Given the description of an element on the screen output the (x, y) to click on. 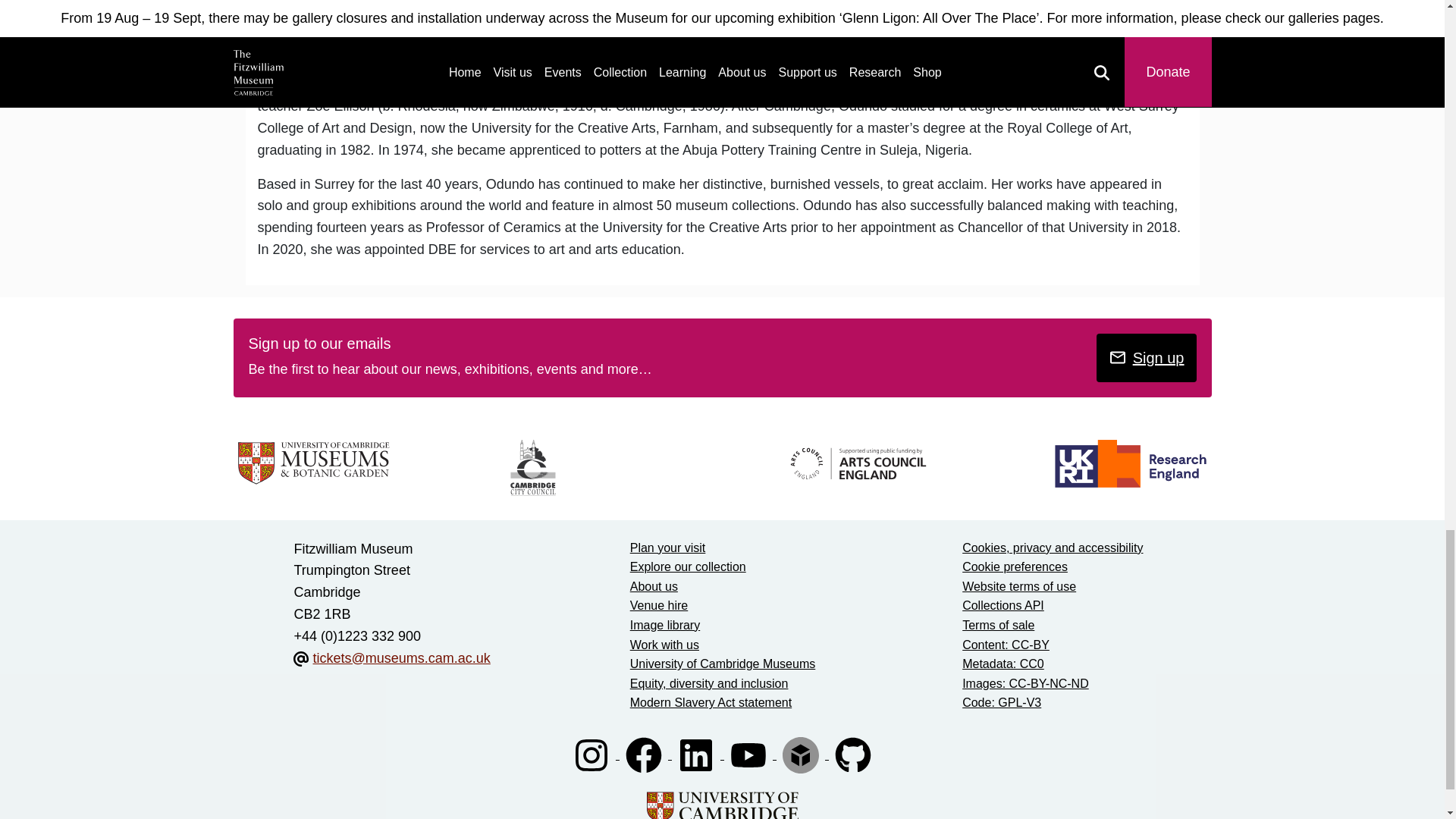
Website terms of use (1018, 585)
Content: CC-BY (1005, 644)
Cookies, privacy and accessibility (1052, 547)
Sign up (1146, 357)
Image library (665, 625)
Cookie preferences (1014, 566)
About us (654, 585)
Explore our collection (687, 566)
Equity, diversity and inclusion (709, 683)
Work with us (664, 644)
